Given the description of an element on the screen output the (x, y) to click on. 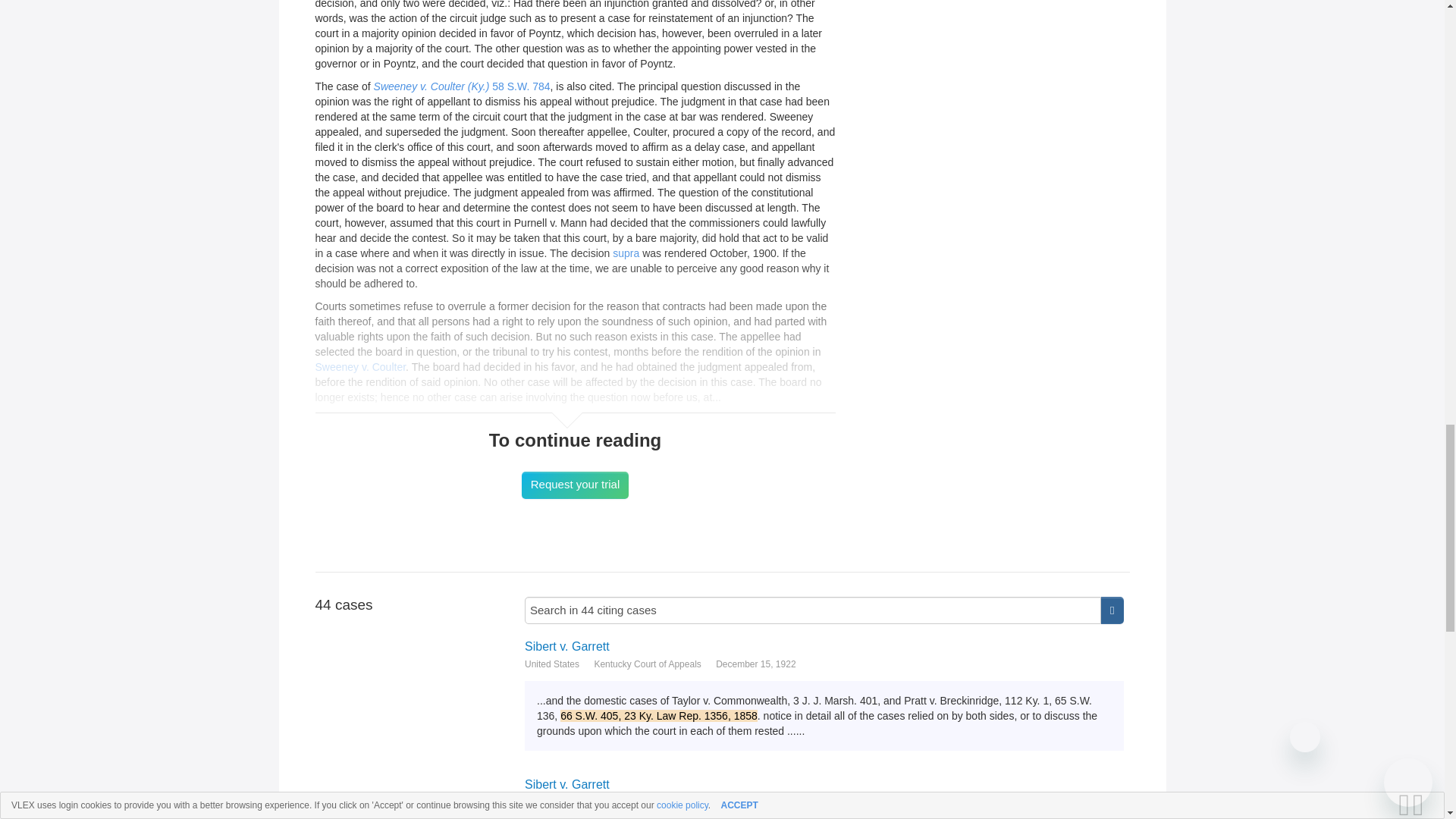
Sweeney v. Coulter (360, 367)
December 15, 1922 (755, 663)
United States (551, 663)
supra (625, 253)
Sibert v. Garrett (824, 646)
Sibert v. Garrett (824, 646)
Sibert v. Garrett (824, 784)
United States (551, 801)
Sibert v. Garrett (824, 784)
Kentucky Court of Appeals (647, 663)
December 15, 1922 (755, 801)
Kentucky Court of Appeals (647, 801)
